Given the description of an element on the screen output the (x, y) to click on. 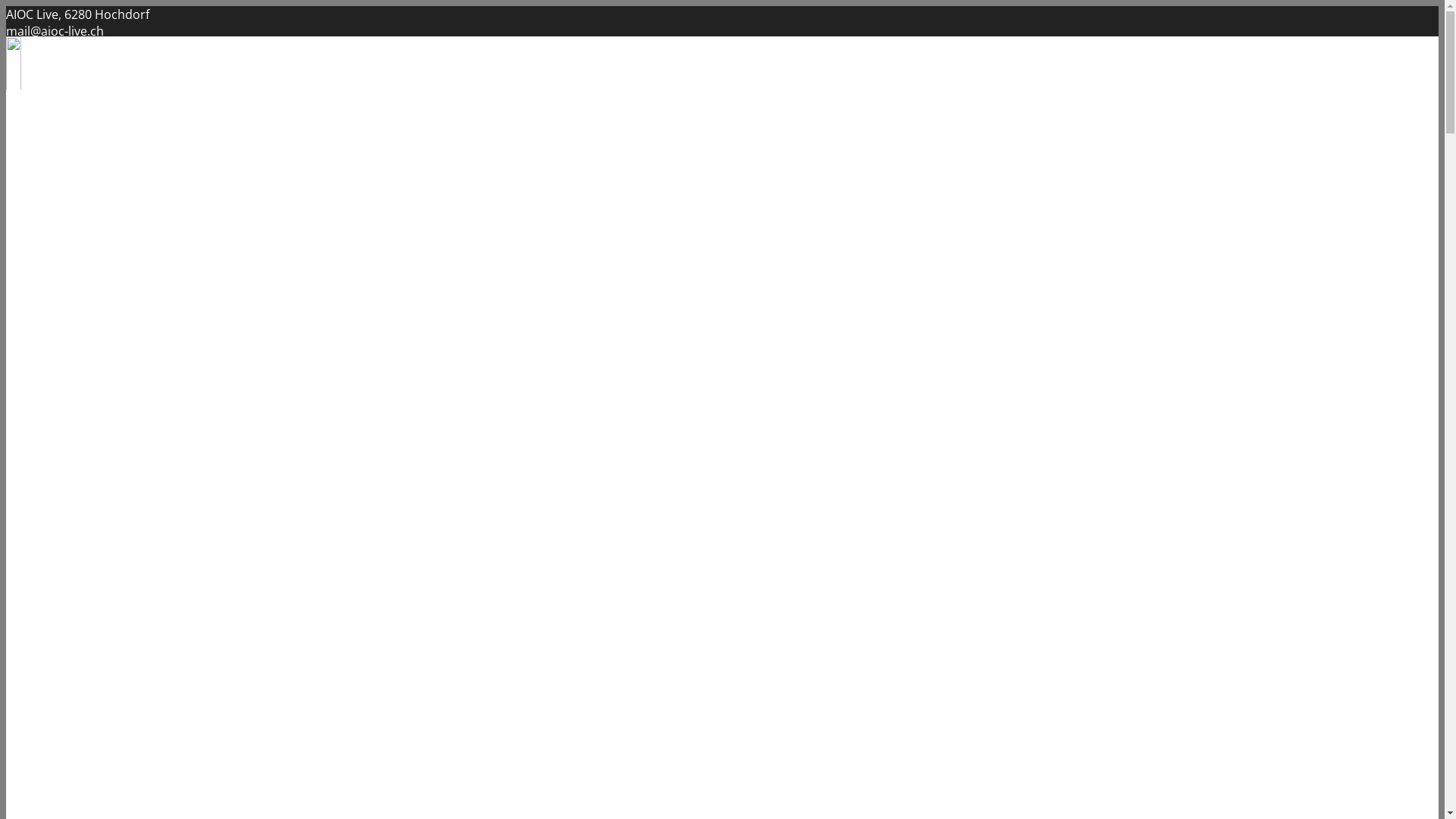
Zum Inhalt springen Element type: text (5, 5)
